Given the description of an element on the screen output the (x, y) to click on. 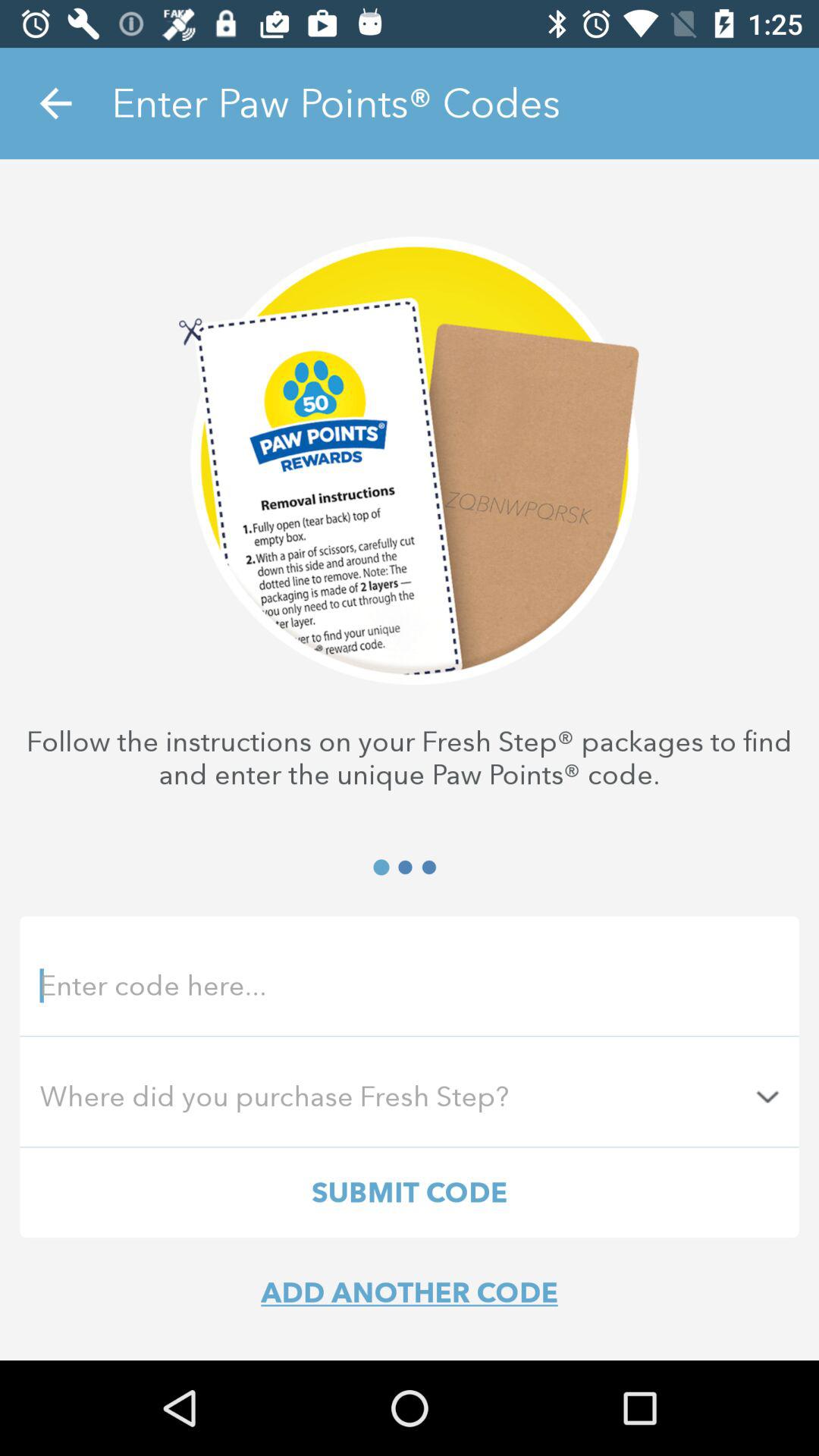
launch the add another code item (409, 1292)
